Given the description of an element on the screen output the (x, y) to click on. 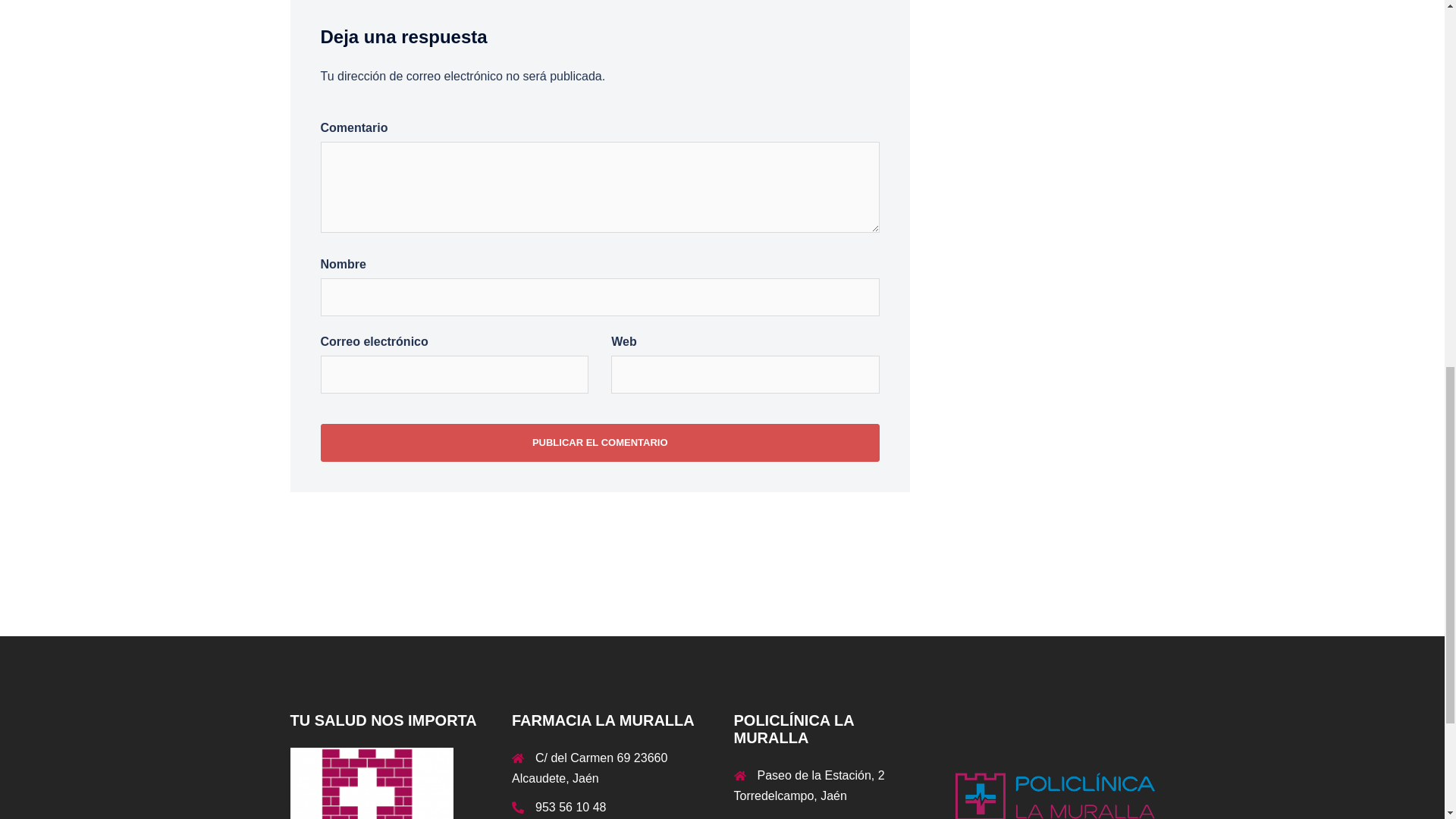
Publicar el comentario (599, 442)
tu salud nos importa (370, 783)
Publicar el comentario (599, 442)
